Given the description of an element on the screen output the (x, y) to click on. 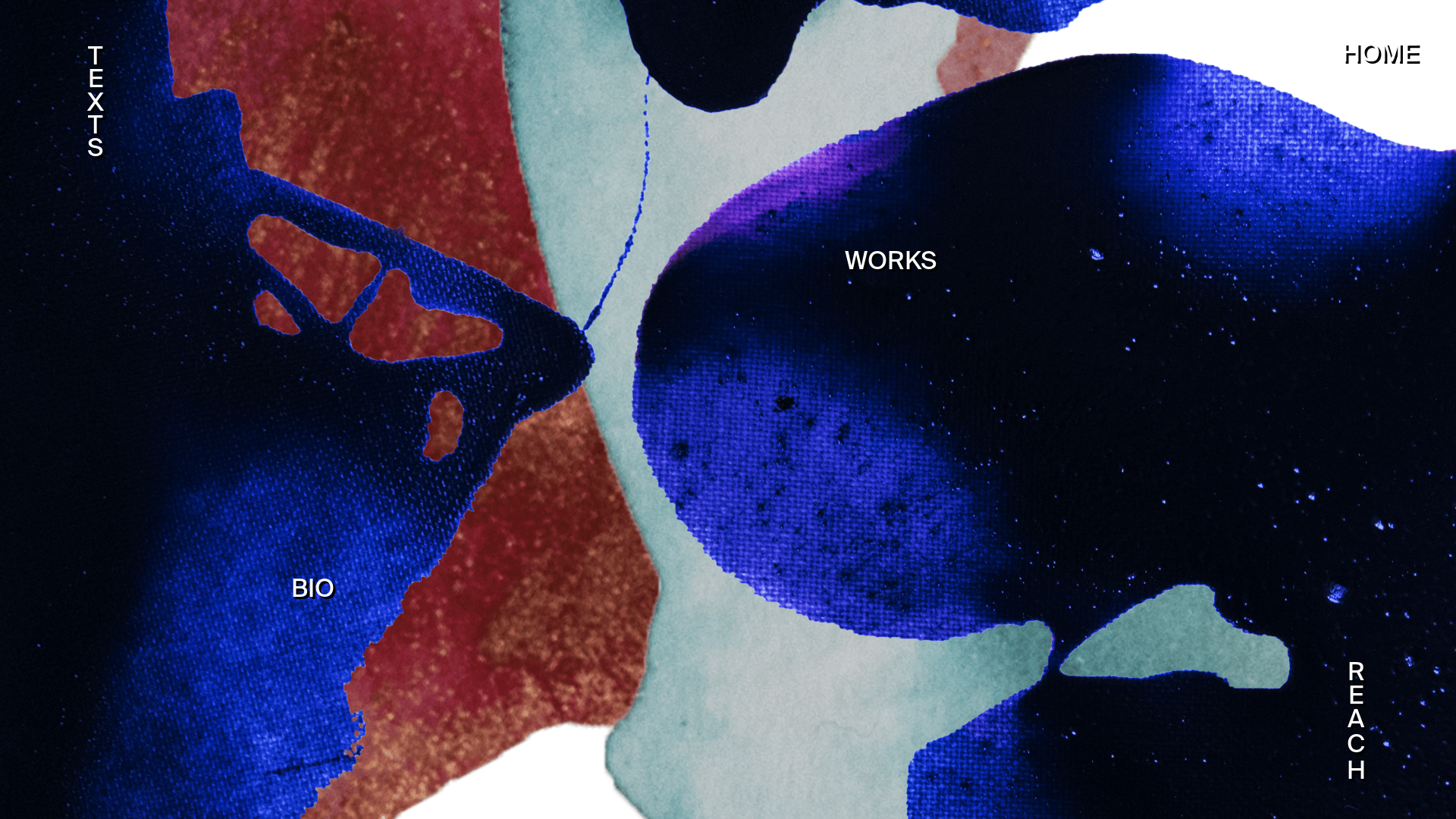
WORKS Element type: text (890, 262)
T
E
X
T
S Element type: text (135, 66)
BIO Element type: text (312, 589)
